Given the description of an element on the screen output the (x, y) to click on. 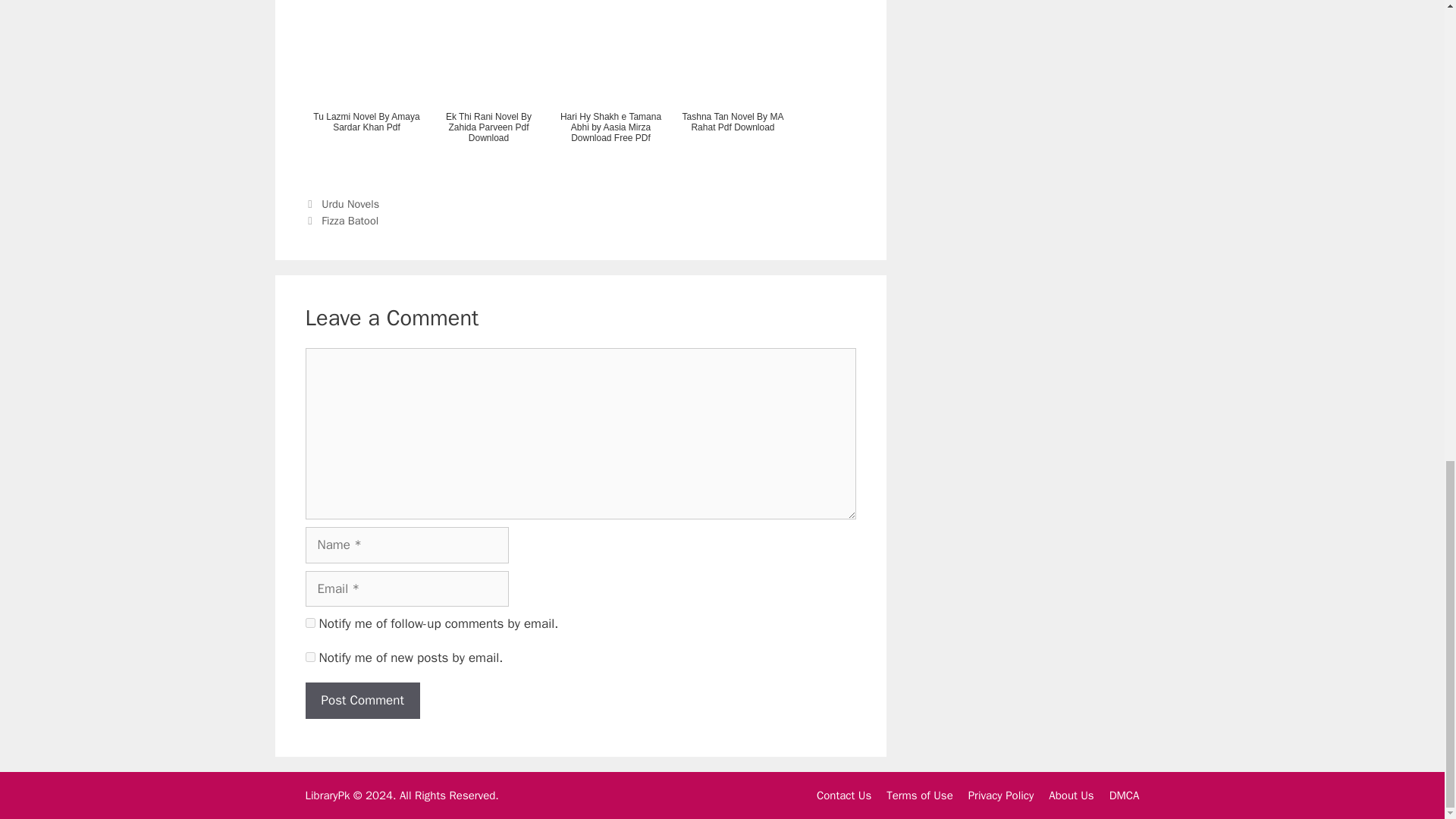
Post Comment (361, 700)
Urdu Novels (349, 203)
subscribe (309, 656)
Fizza Batool (349, 220)
subscribe (309, 623)
Post Comment (361, 700)
